Given the description of an element on the screen output the (x, y) to click on. 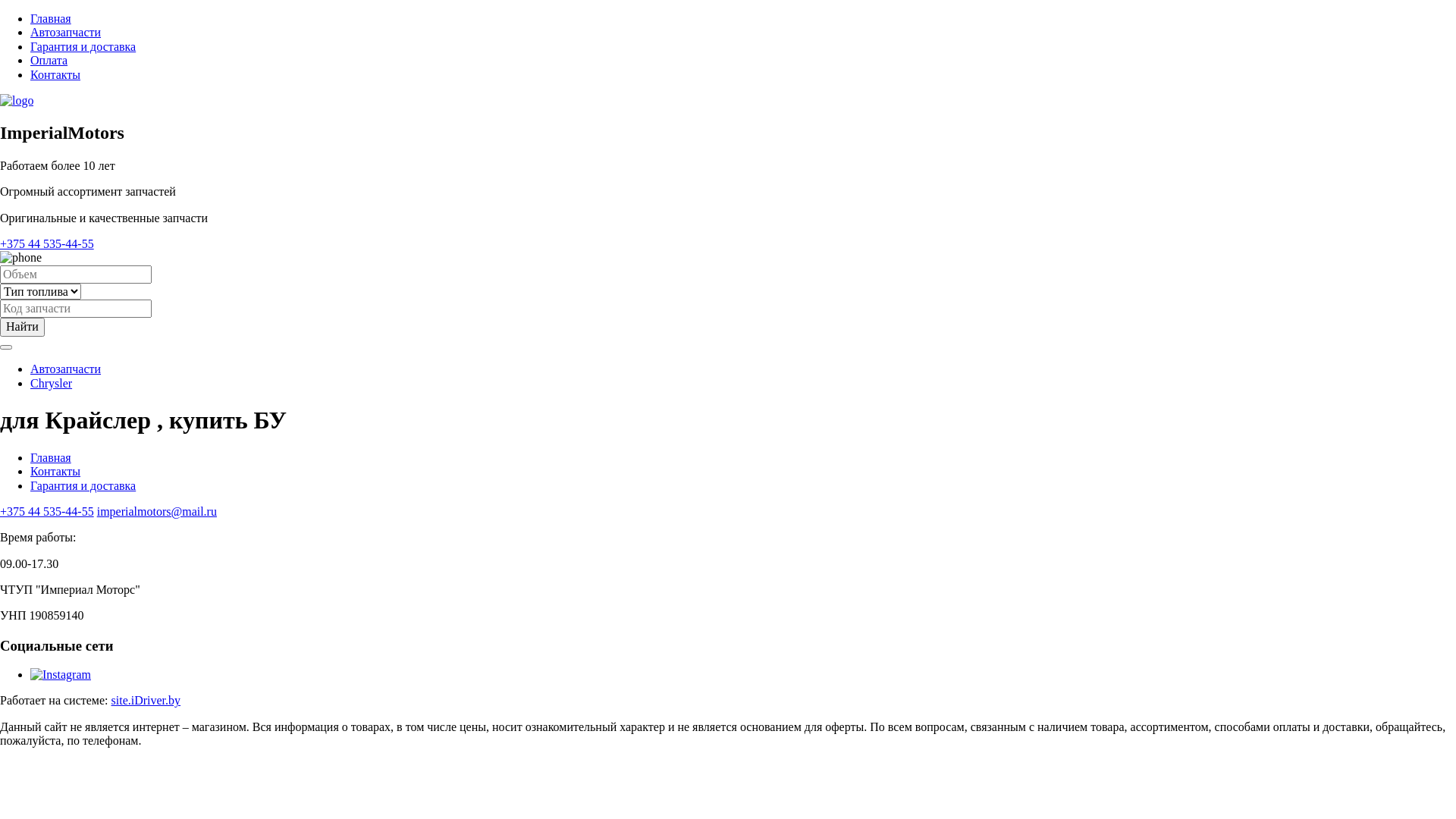
imperialmotors@mail.ru Element type: text (156, 511)
site.iDriver.by Element type: text (146, 699)
+375 44 535-44-55 Element type: text (47, 511)
Chrysler Element type: text (51, 382)
+375 44 535-44-55 Element type: text (47, 243)
